Given the description of an element on the screen output the (x, y) to click on. 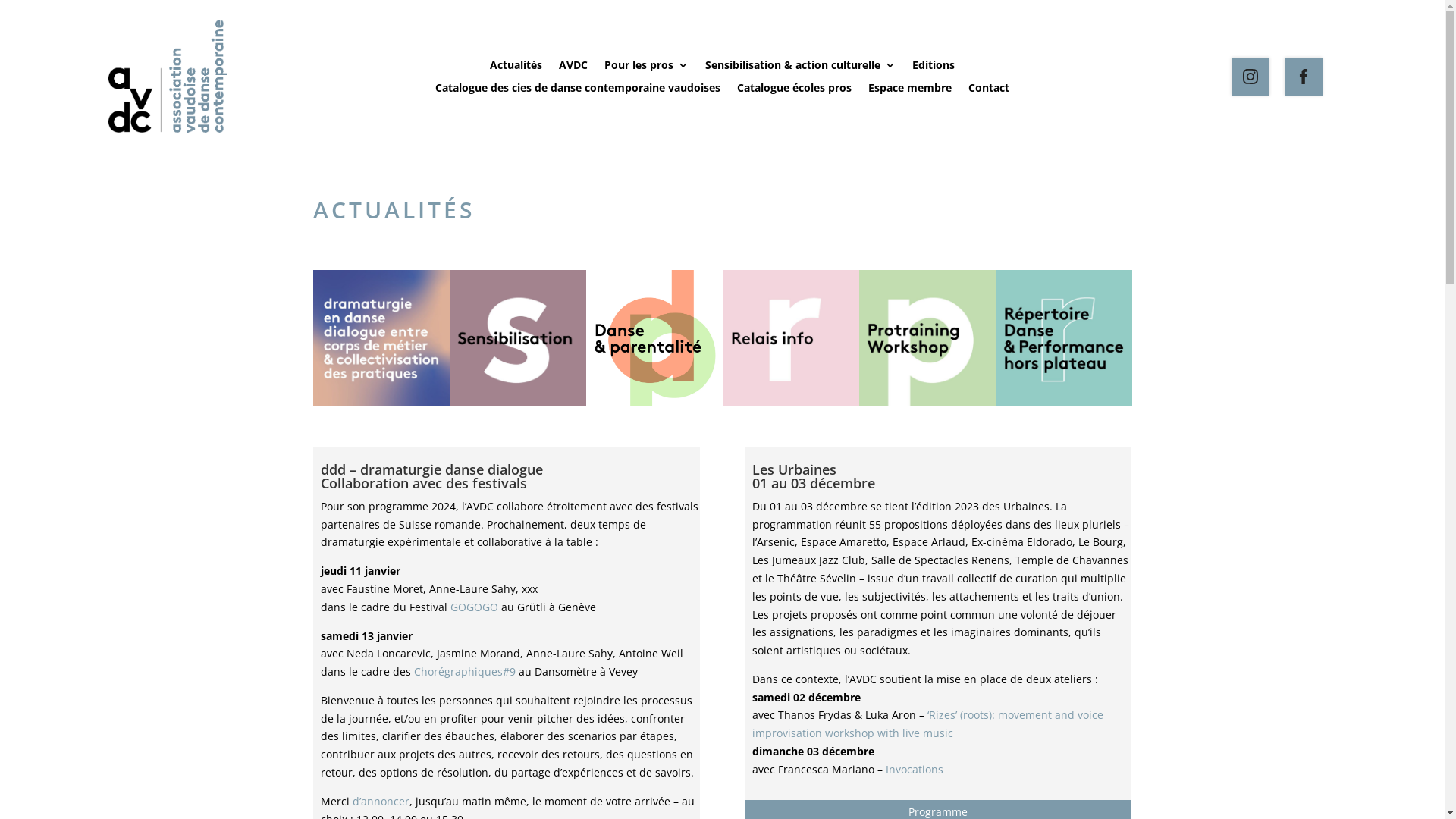
Sensibilisation & action culturelle Element type: text (800, 67)
avdc-icon-instagramm-180220204-767x767 Element type: hover (926, 337)
avdc-dramaturgie-en-danse-instagram-080622-1-767x767 Element type: hover (380, 337)
AVDC_ICON_INSTAGRAMM_20.09.2023_3 Element type: hover (653, 337)
Espace membre Element type: text (909, 90)
GOGOGO Element type: text (474, 606)
Catalogue des cies de danse contemporaine vaudoises Element type: text (577, 90)
AVDC Element type: text (572, 67)
ri-767x767 Element type: hover (789, 337)
Pour les pros Element type: text (646, 67)
Invocations Element type: text (914, 769)
Editions Element type: text (933, 67)
avdc-hors-plateaux-instagram-02052022-3-min-767x767 Element type: hover (1062, 337)
logo-bleu-pantone Element type: hover (166, 76)
avdc-icon-instagramm-1802202011-767x767 Element type: hover (516, 337)
Contact Element type: text (988, 90)
